Given the description of an element on the screen output the (x, y) to click on. 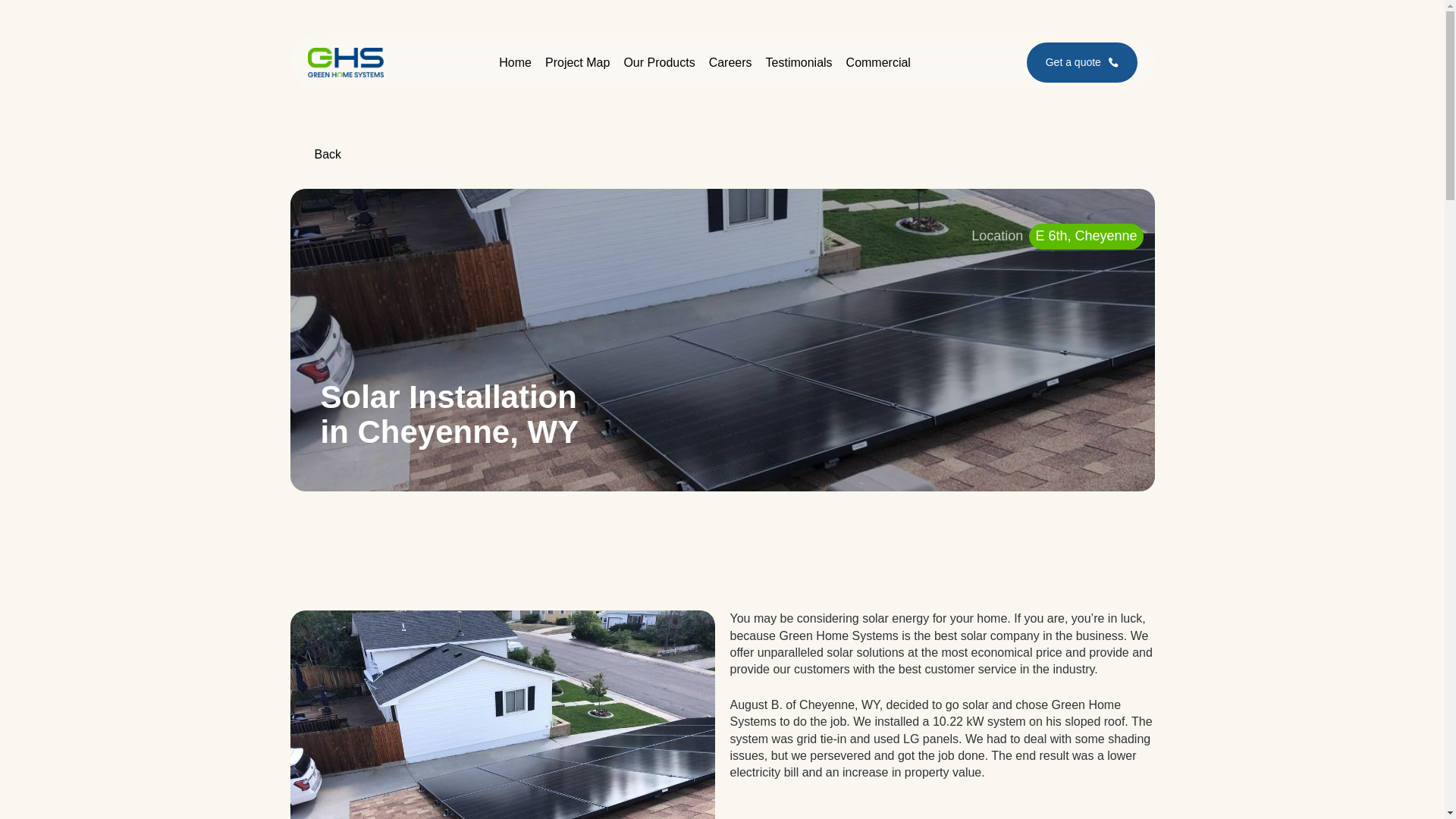
Home (514, 62)
Project Map (577, 62)
Careers (730, 62)
Our Products (658, 62)
Commercial (878, 62)
Testimonials (799, 62)
